Given the description of an element on the screen output the (x, y) to click on. 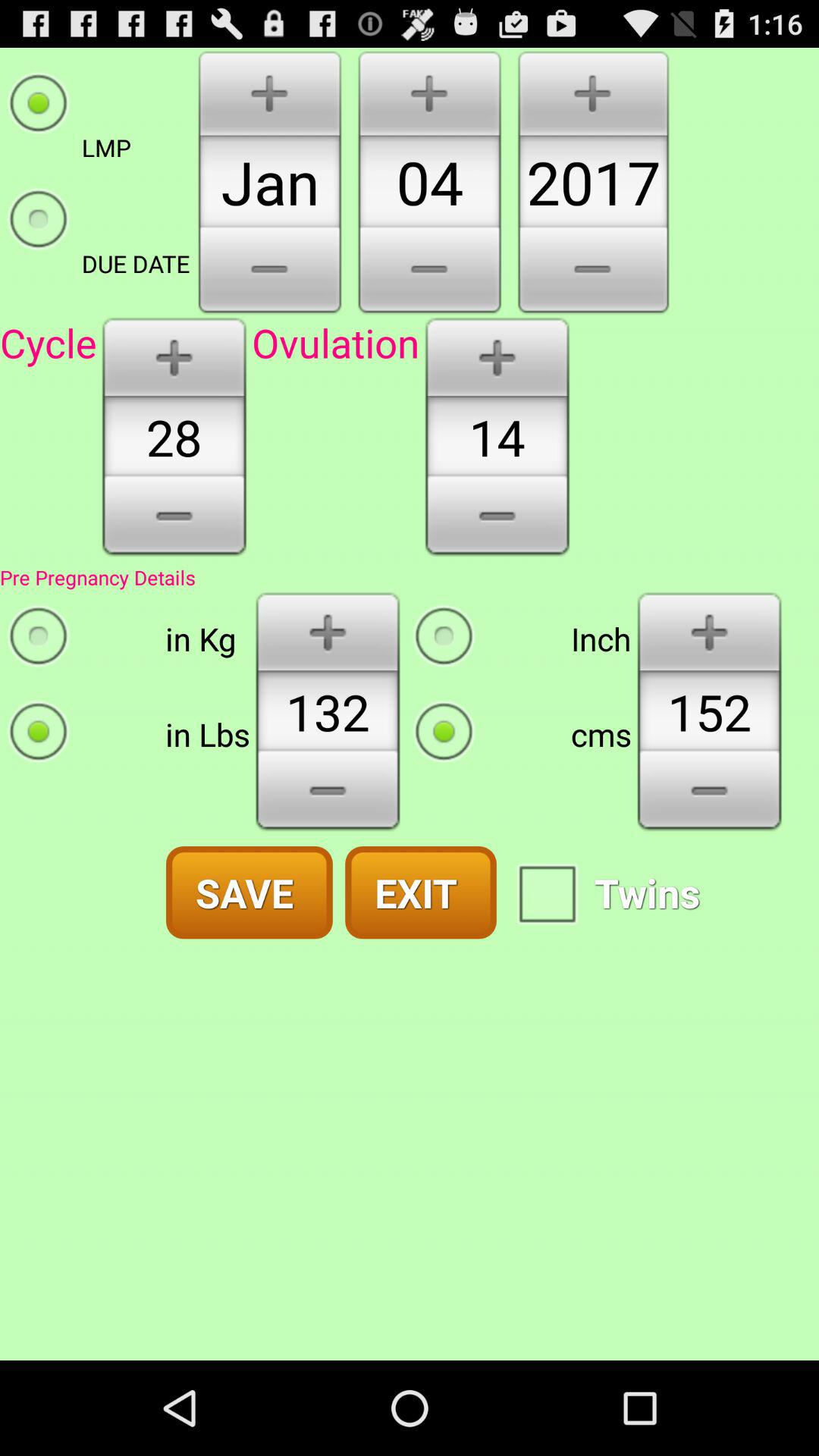
increase ovulation number (497, 355)
